Given the description of an element on the screen output the (x, y) to click on. 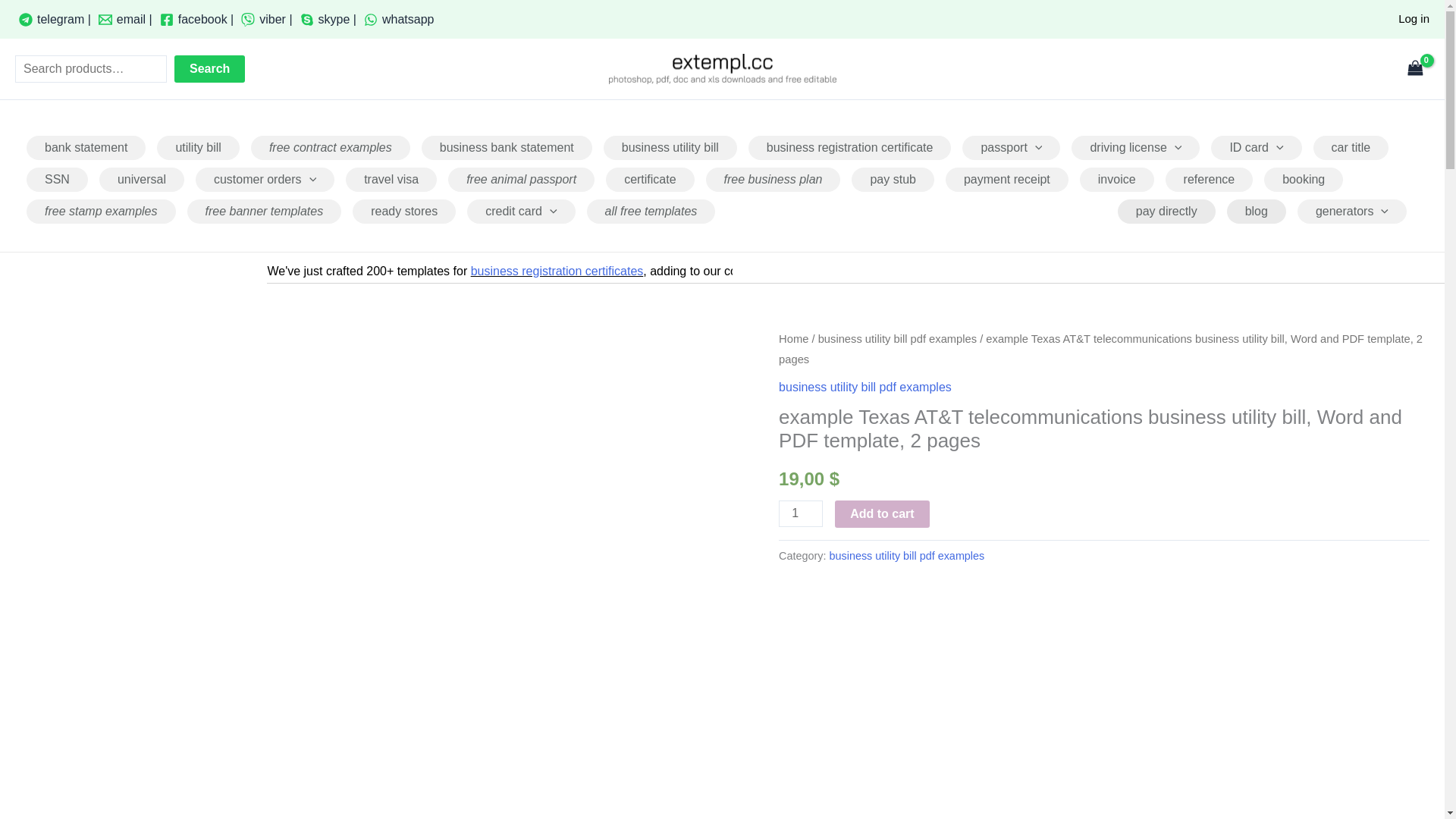
whatsapp (398, 19)
driving license (1135, 147)
1 (800, 513)
Search (209, 68)
Log in (1413, 18)
business bank statement (507, 147)
universal (141, 179)
ID card (1256, 147)
bank statement (85, 147)
SSN (56, 179)
customer orders (264, 179)
business utility bill (670, 147)
car title (1351, 147)
free contract examples (330, 147)
travel visa (391, 179)
